Given the description of an element on the screen output the (x, y) to click on. 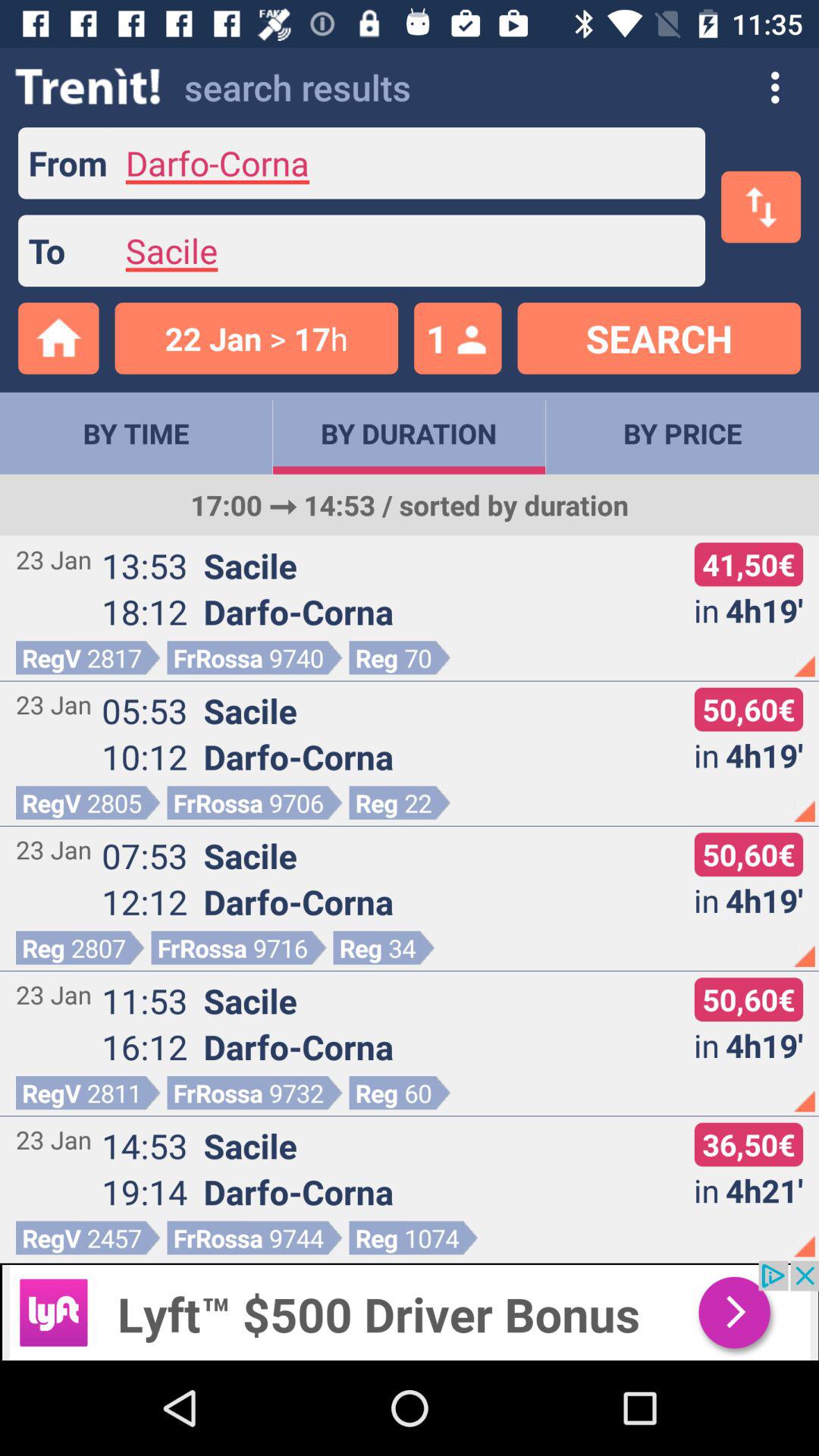
useful advertisement (409, 1310)
